Given the description of an element on the screen output the (x, y) to click on. 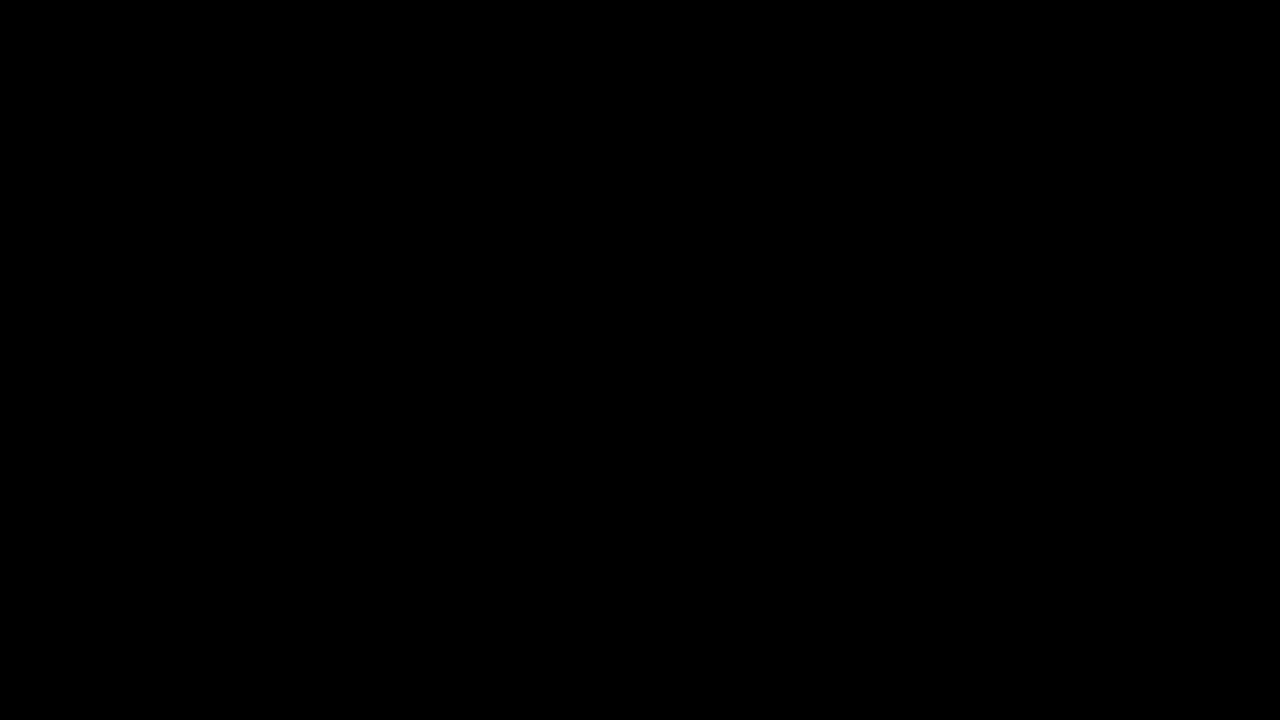
Page left (426, 649)
Page Number Screens 2-3 of 3  (52, 668)
Airplane with solid fill (126, 200)
Rectangle: Diagonal Corners Snipped 2 (493, 201)
